Given the description of an element on the screen output the (x, y) to click on. 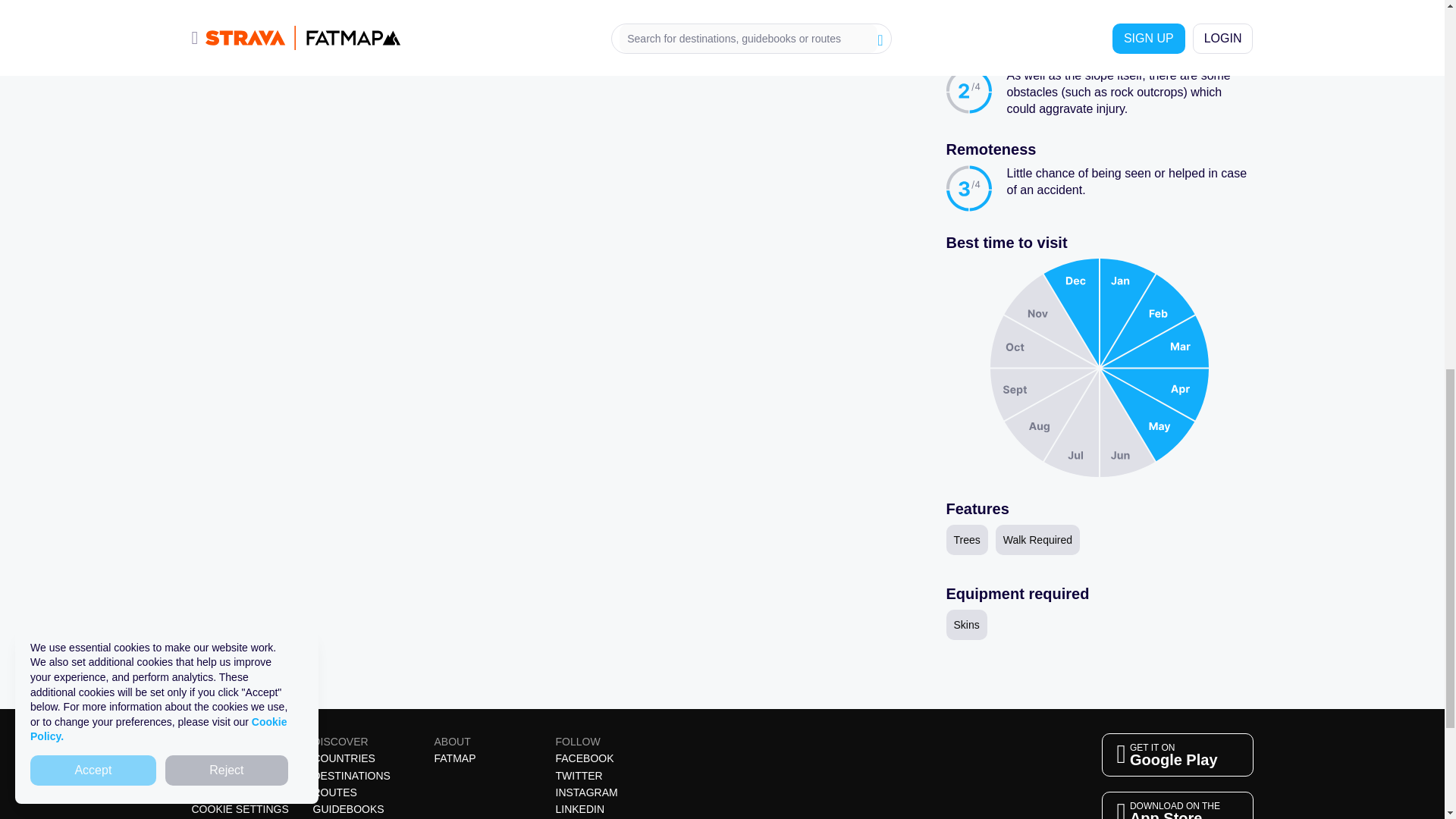
COUNTRIES (343, 758)
INSTAGRAM (585, 792)
PRIVACY (1176, 754)
GUIDEBOOKS (212, 775)
FATMAP (1176, 805)
ROUTES (348, 808)
FAQS (454, 758)
TWITTER (334, 792)
FACEBOOK (204, 758)
DESTINATIONS (578, 775)
LINKEDIN (583, 758)
COOKIE SETTINGS (351, 775)
TERMS (579, 808)
